Given the description of an element on the screen output the (x, y) to click on. 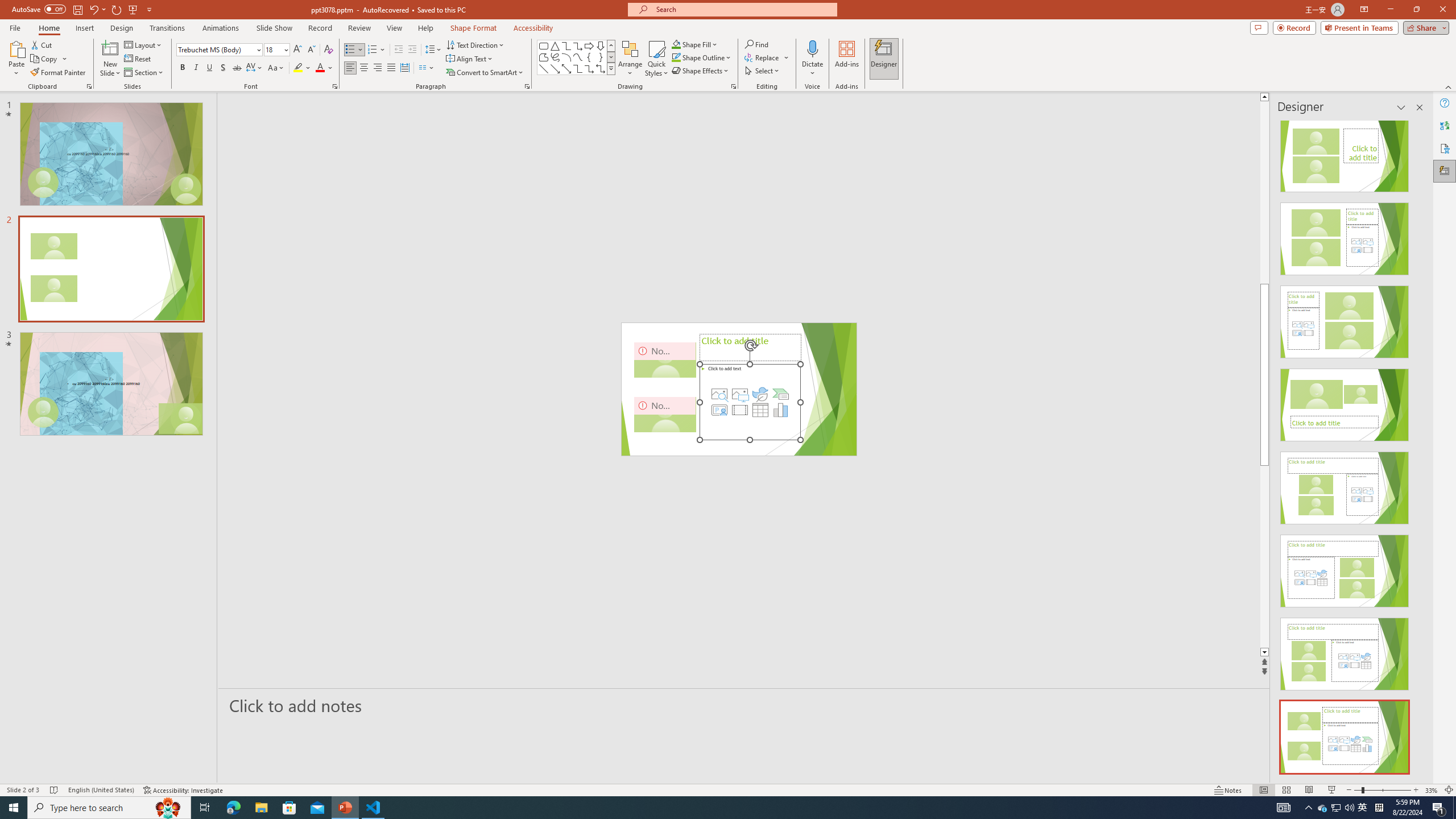
Camera 5, No camera detected. (665, 413)
Class: NetUIScrollBar (1418, 447)
Connector: Elbow Double-Arrow (600, 68)
